Given the description of an element on the screen output the (x, y) to click on. 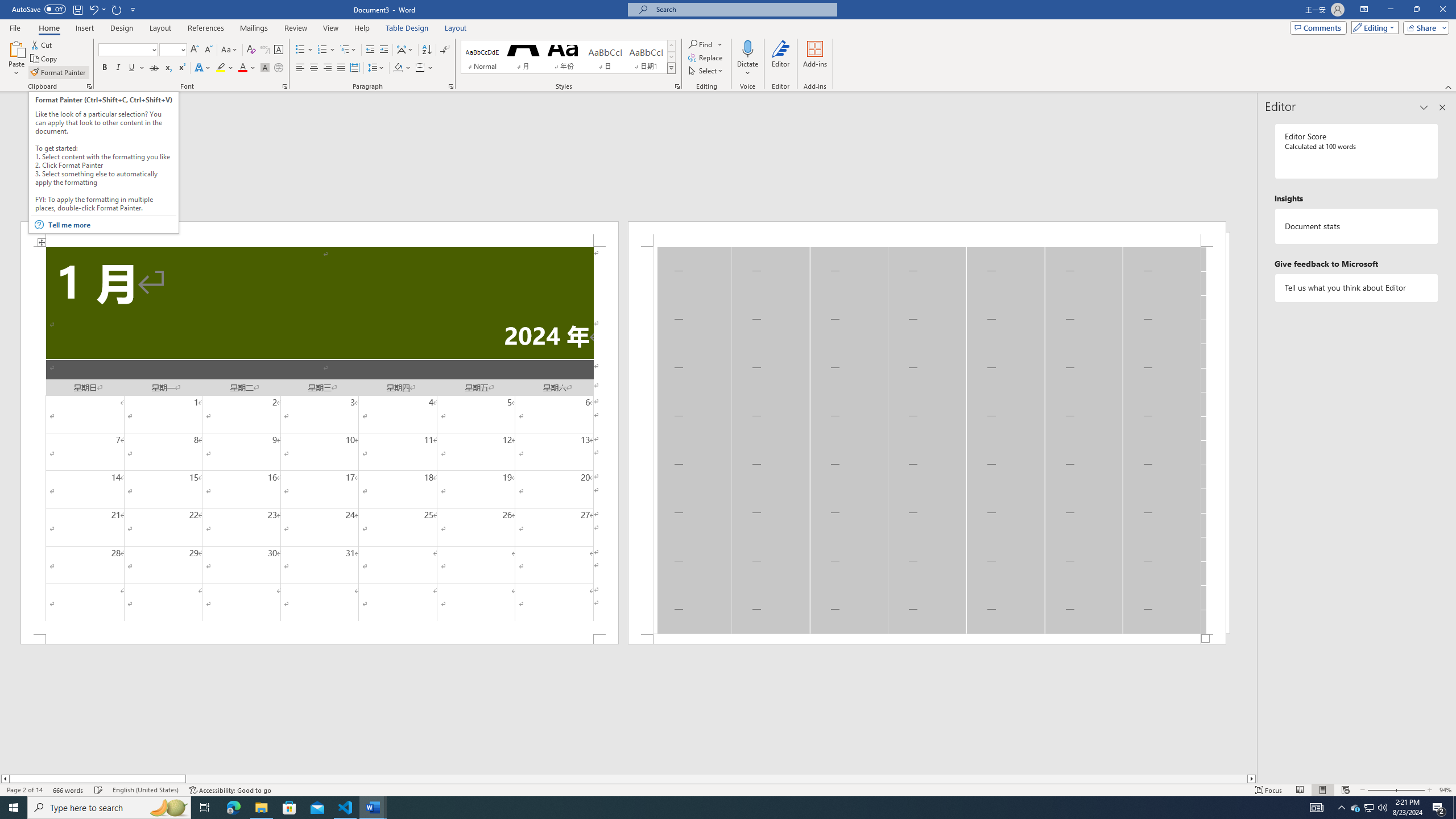
Document statistics (1356, 226)
Shading (402, 67)
Styles (670, 67)
Page right (716, 778)
Language English (United States) (145, 790)
Page Number Page 2 of 14 (24, 790)
Column left (5, 778)
Row up (670, 45)
Undo Apply Quick Style (96, 9)
